Given the description of an element on the screen output the (x, y) to click on. 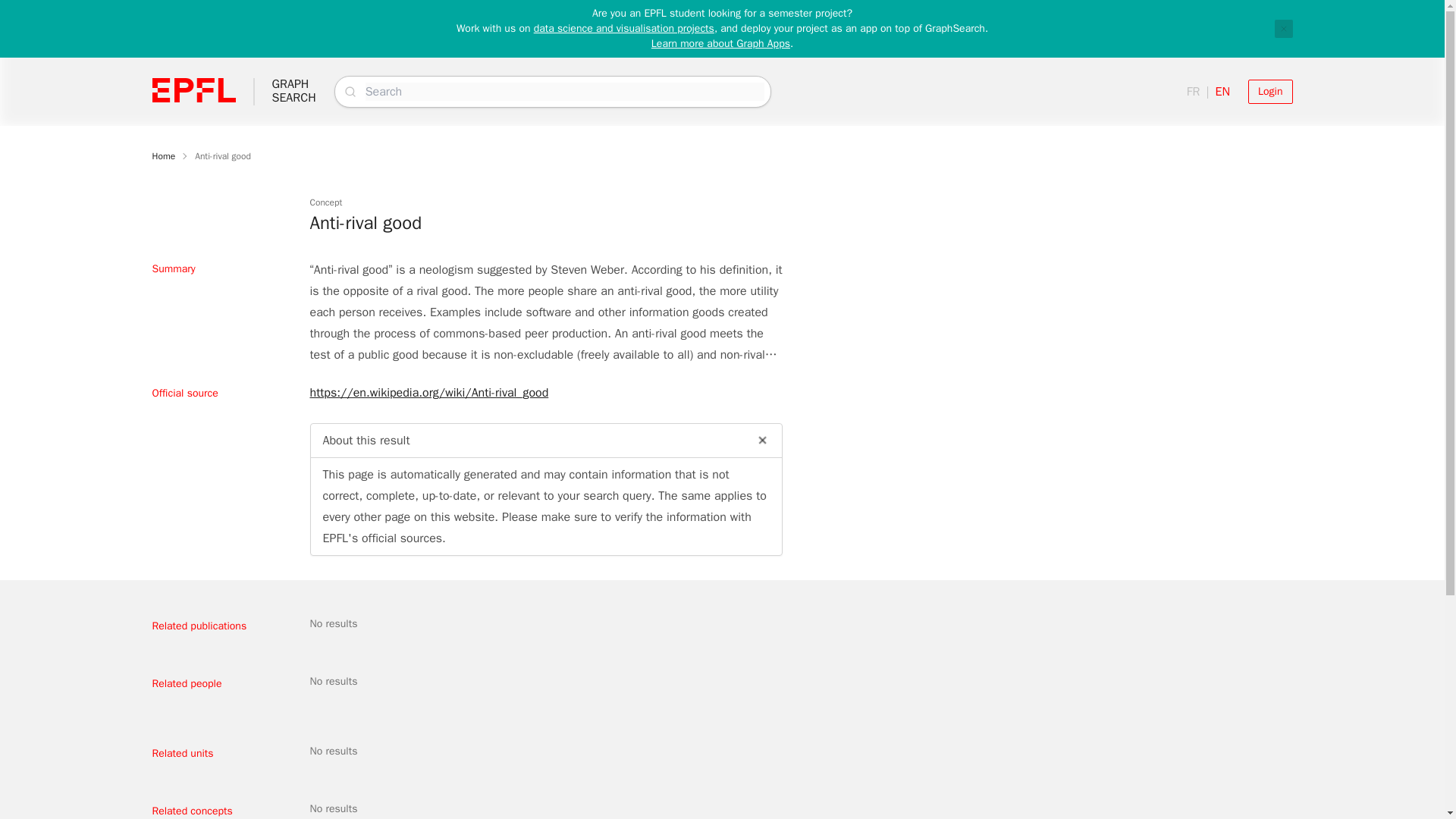
Anti-rival good (222, 155)
Close notification (292, 90)
Home (1283, 28)
Learn more about Graph Apps (162, 155)
data science and visualisation projects (720, 42)
Login (624, 28)
